Given the description of an element on the screen output the (x, y) to click on. 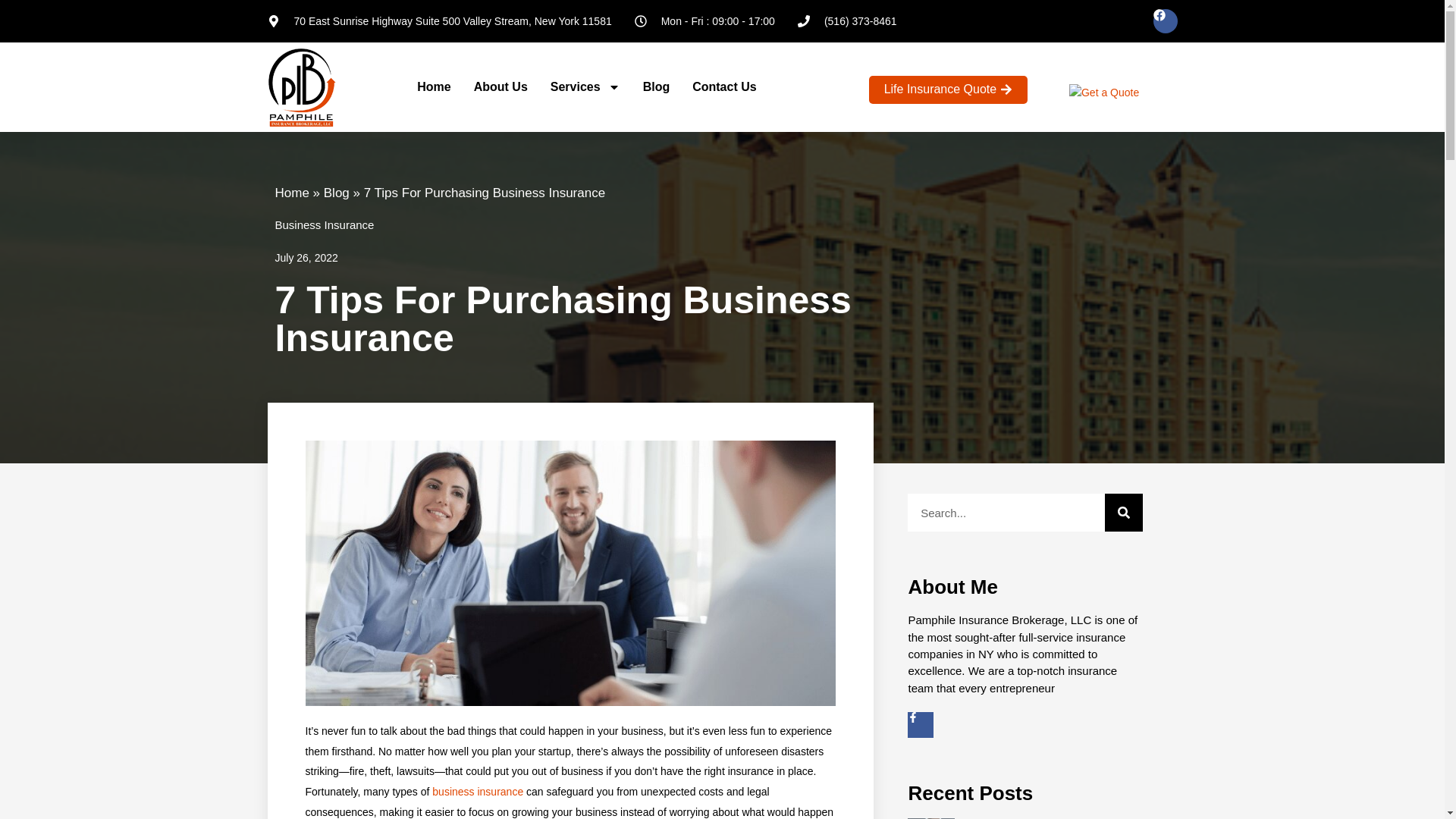
Life Insurance Quote (948, 90)
July 26, 2022 (306, 257)
Contact Us (724, 86)
Home (432, 86)
Services (585, 86)
Home (291, 192)
business insurance (475, 791)
Business Insurance (324, 224)
About Us (500, 86)
